Given the description of an element on the screen output the (x, y) to click on. 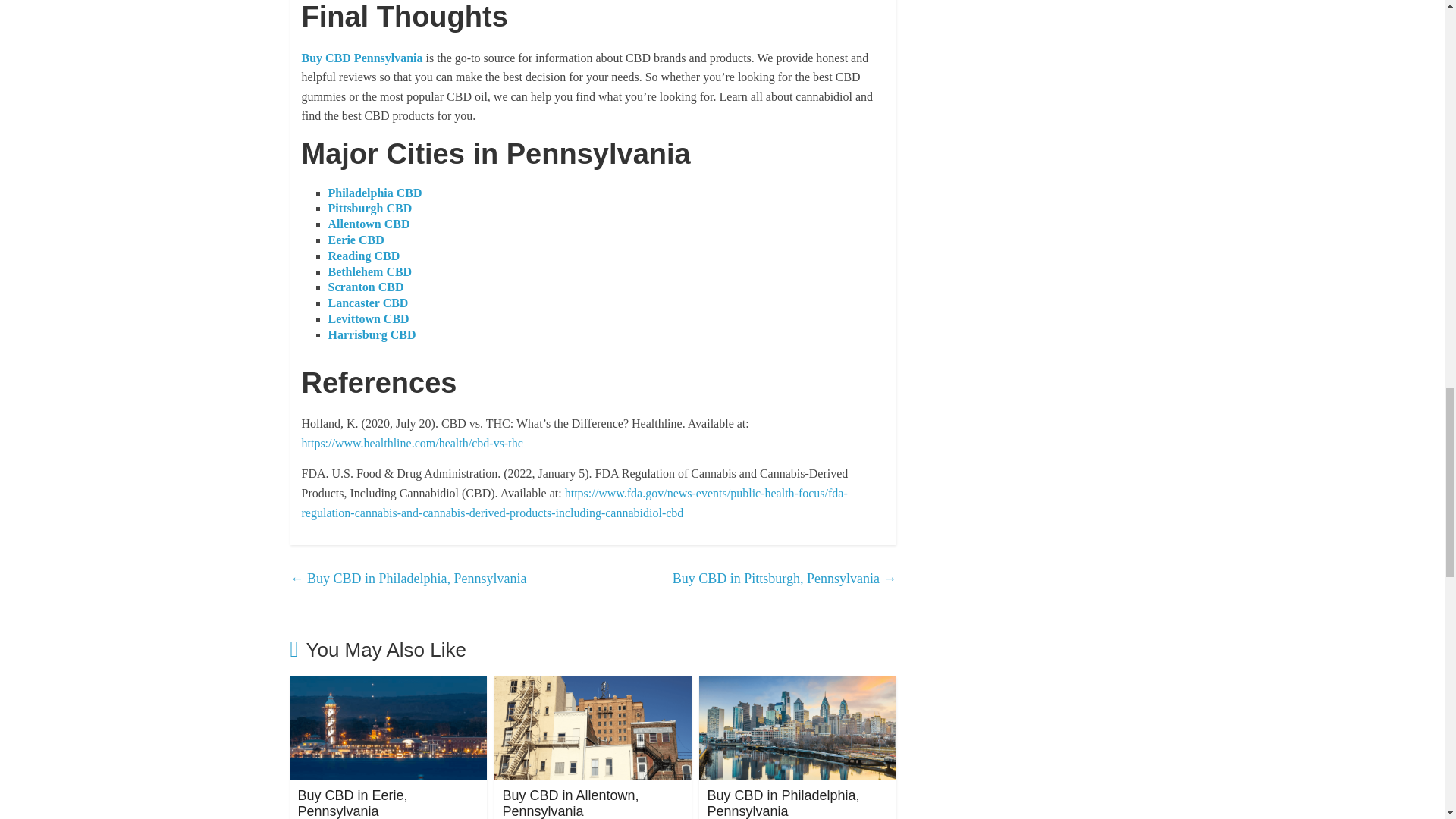
Allentown CBD (368, 223)
Reading CBD (362, 255)
Levittown CBD (368, 318)
Scranton CBD (365, 286)
Buy CBD in Eerie, Pennsylvania (352, 803)
Buy CBD in Eerie, Pennsylvania (387, 685)
Buy CBD in Eerie, Pennsylvania (352, 803)
Philadelphia CBD (374, 192)
Harrisburg CBD (370, 334)
Lancaster CBD (367, 302)
